Given the description of an element on the screen output the (x, y) to click on. 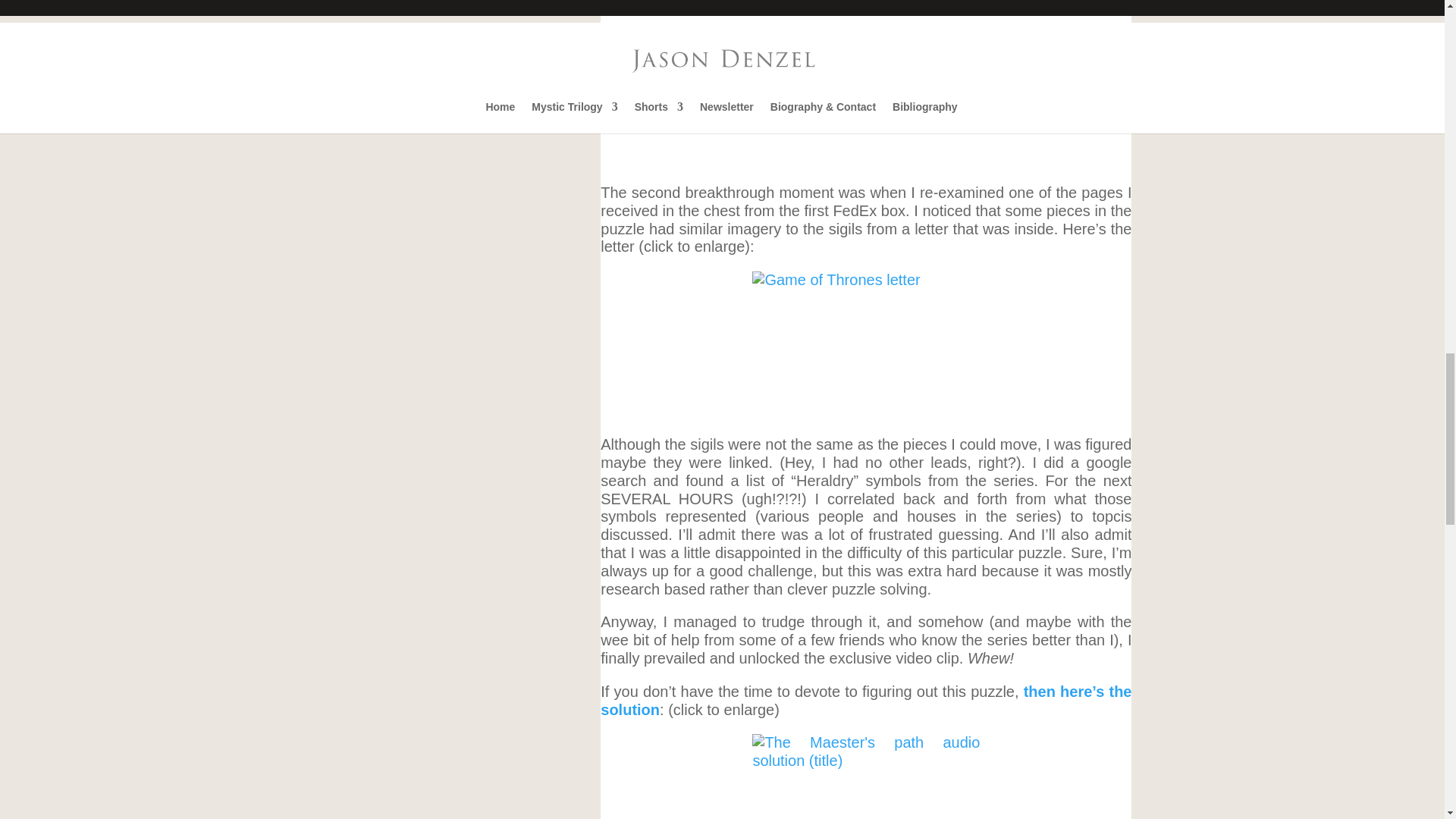
Game of Thrones letter (865, 345)
The Maester's Path tree hilight (865, 97)
